Given the description of an element on the screen output the (x, y) to click on. 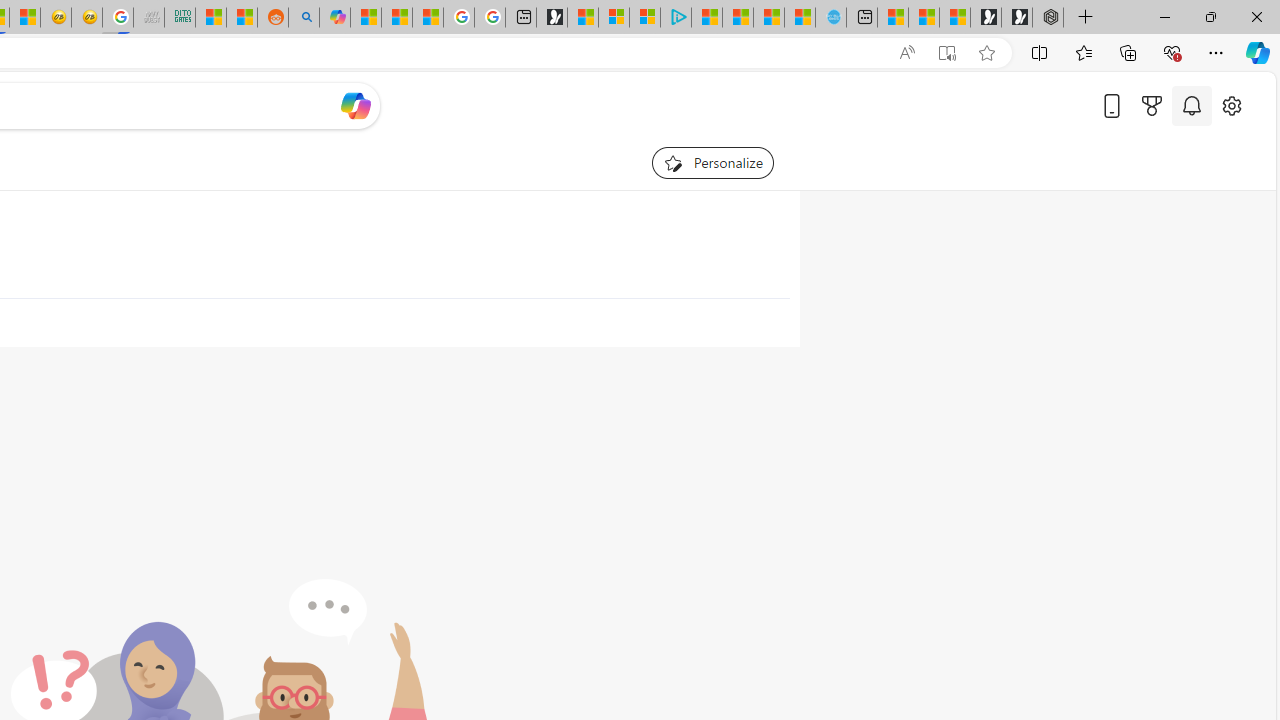
Split screen (1039, 52)
Home | Sky Blue Bikes - Sky Blue Bikes (830, 17)
